Given the description of an element on the screen output the (x, y) to click on. 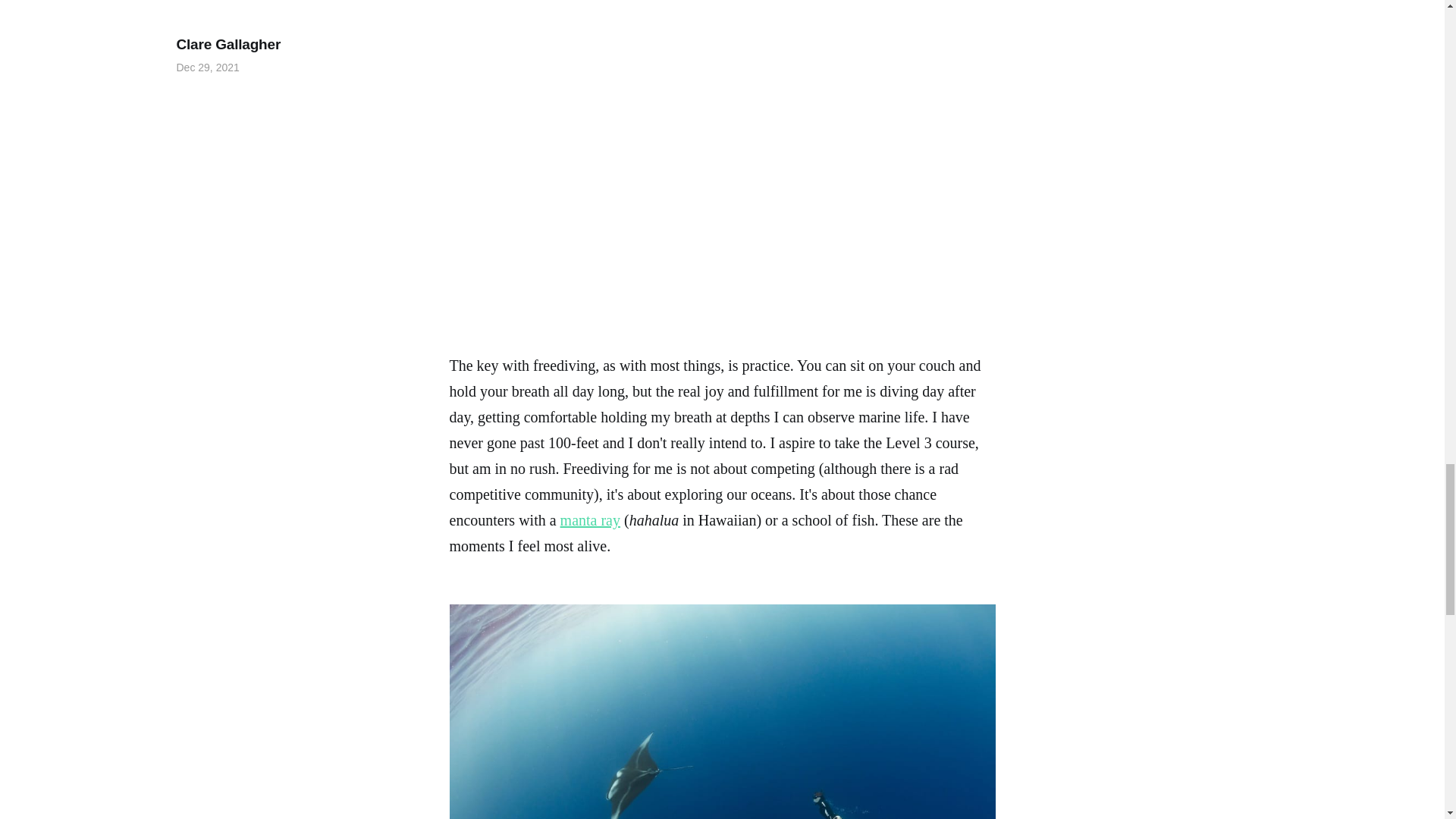
manta ray (590, 519)
